Given the description of an element on the screen output the (x, y) to click on. 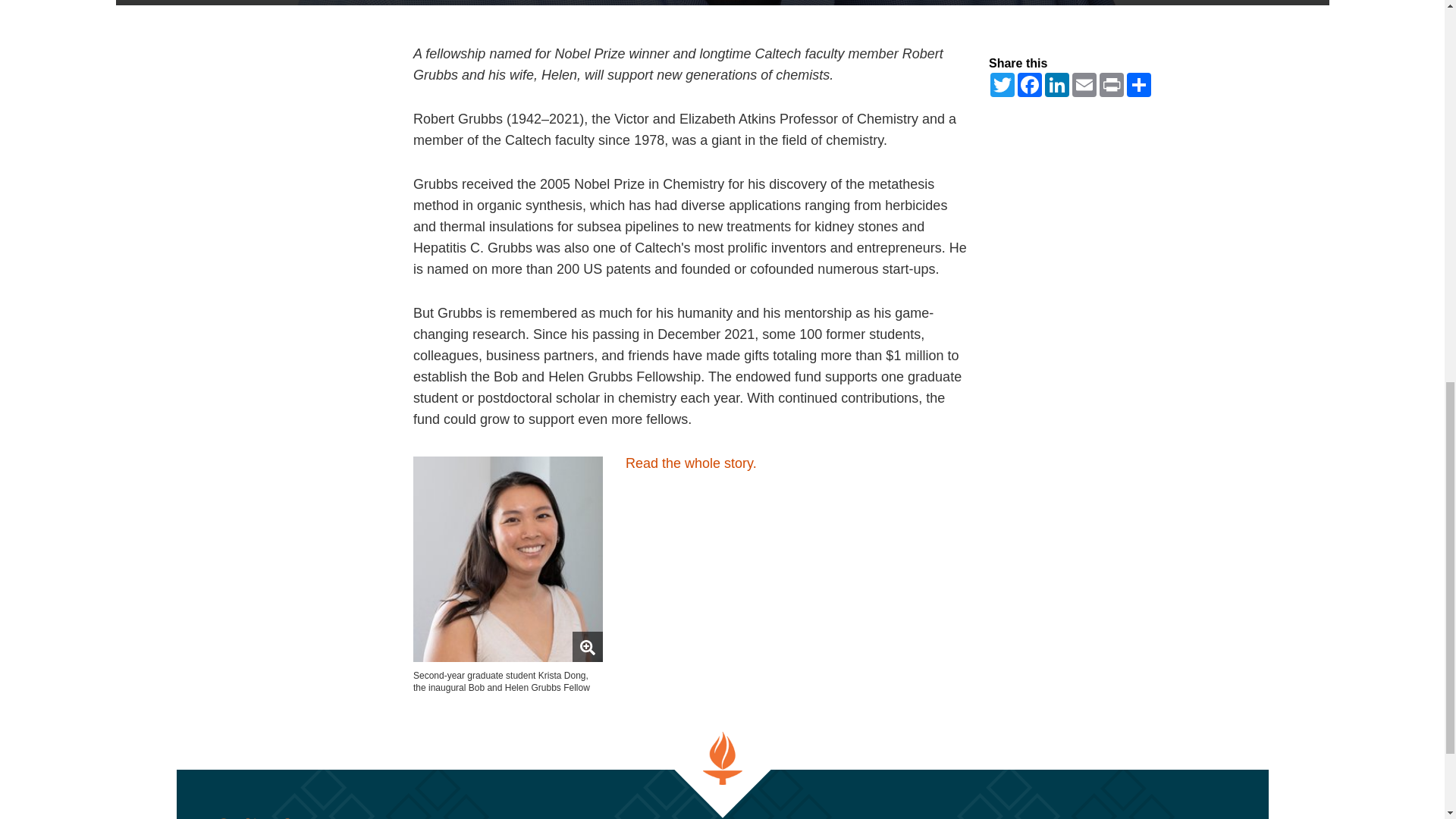
Zoom In to Image (587, 647)
